Given the description of an element on the screen output the (x, y) to click on. 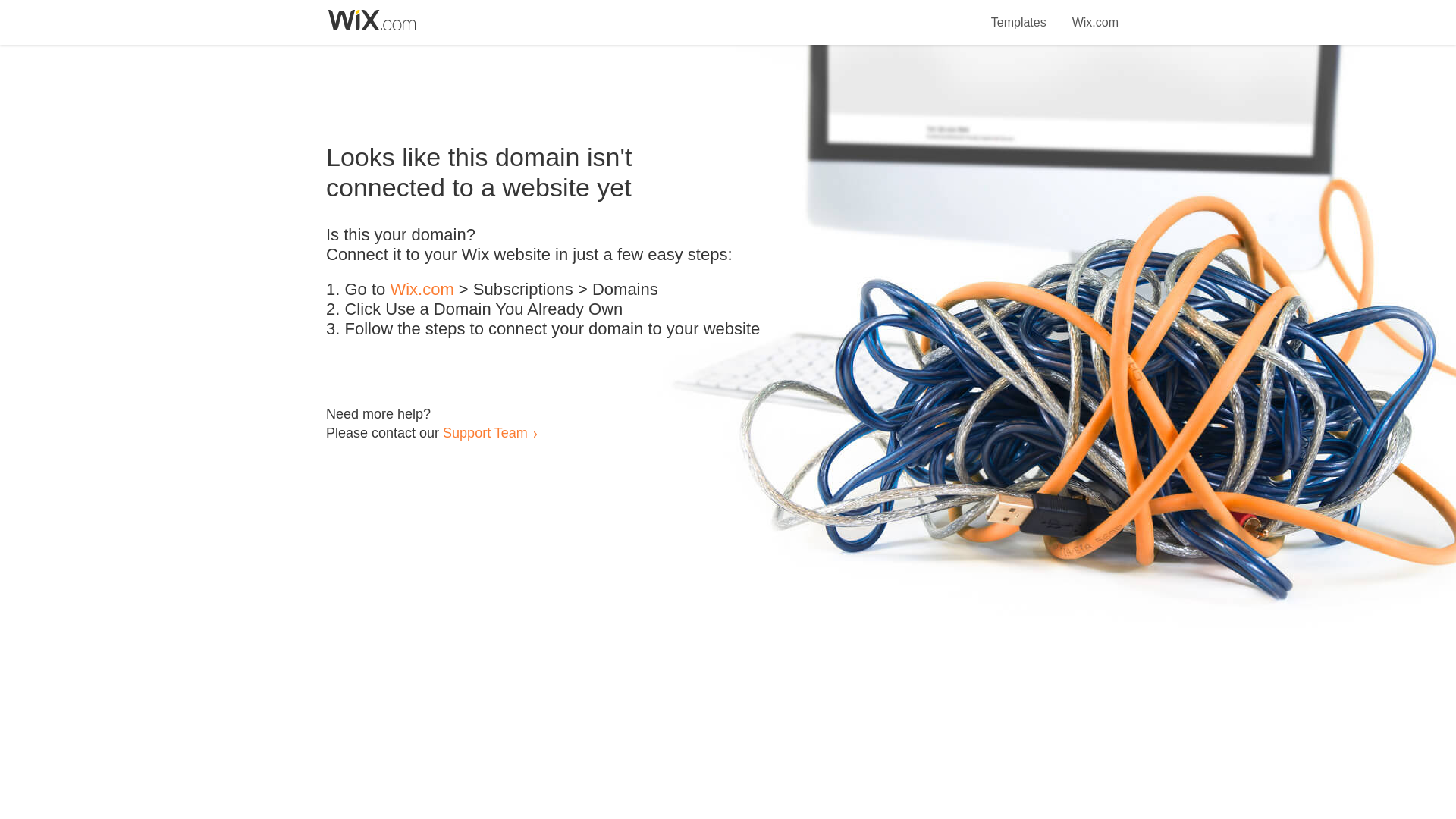
Wix.com (421, 289)
Templates (1018, 14)
Wix.com (1095, 14)
Support Team (484, 432)
